Given the description of an element on the screen output the (x, y) to click on. 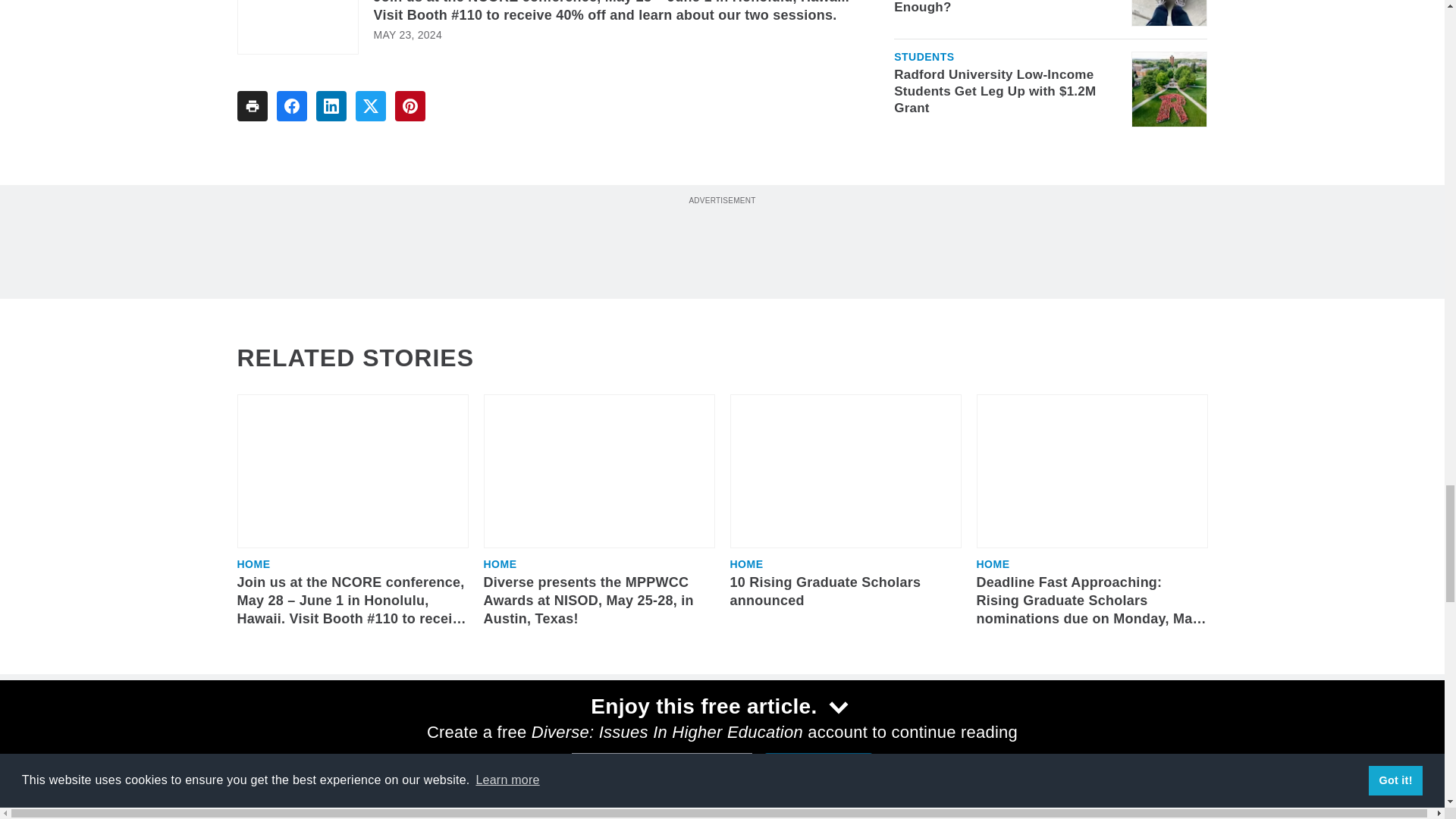
Share To print (250, 105)
